Given the description of an element on the screen output the (x, y) to click on. 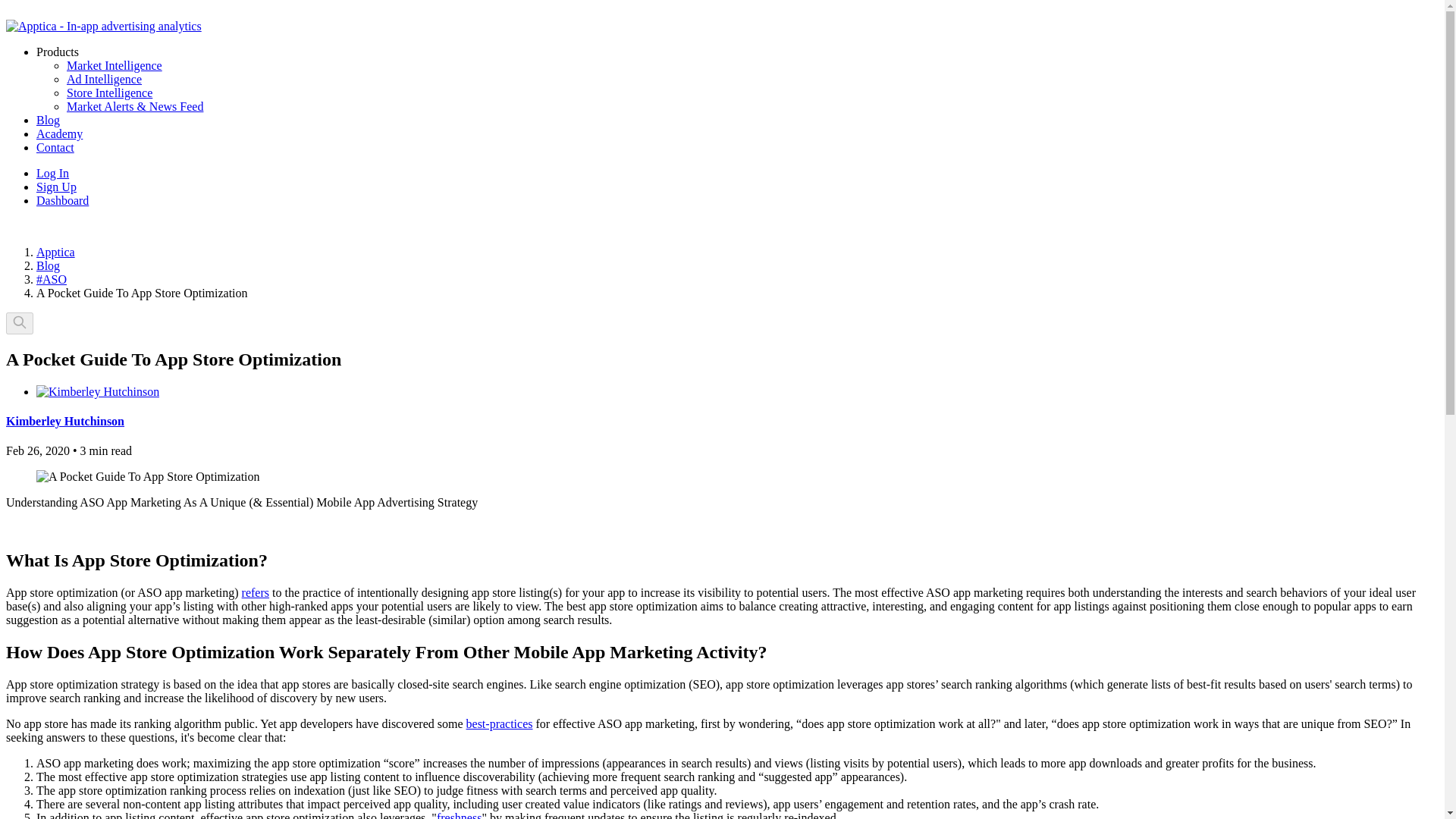
Academy (59, 133)
freshness (458, 815)
Kimberley Hutchinson (64, 420)
best-practices (498, 723)
Dashboard (62, 200)
Market Intelligence (113, 65)
Blog (47, 119)
Sign Up (56, 186)
Apptica (55, 251)
Log In (52, 173)
Contact (55, 146)
Ad Intelligence (103, 78)
Store Intelligence (109, 92)
Blog (47, 265)
refers (255, 592)
